Given the description of an element on the screen output the (x, y) to click on. 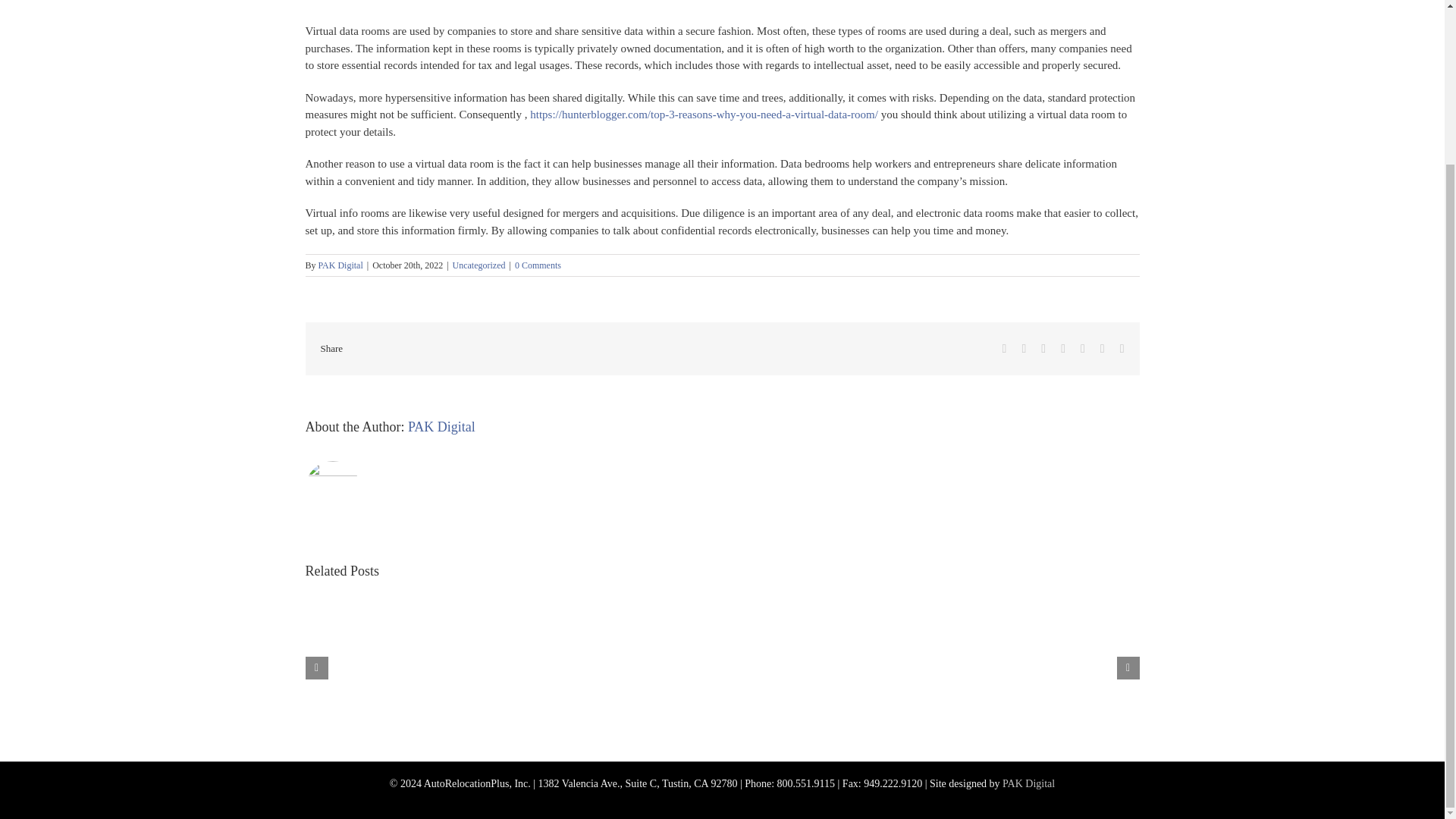
0 Comments (537, 265)
Uncategorized (478, 265)
Posts by PAK Digital (441, 426)
PAK Digital (441, 426)
Posts by PAK Digital (340, 265)
PAK Digital (340, 265)
